Given the description of an element on the screen output the (x, y) to click on. 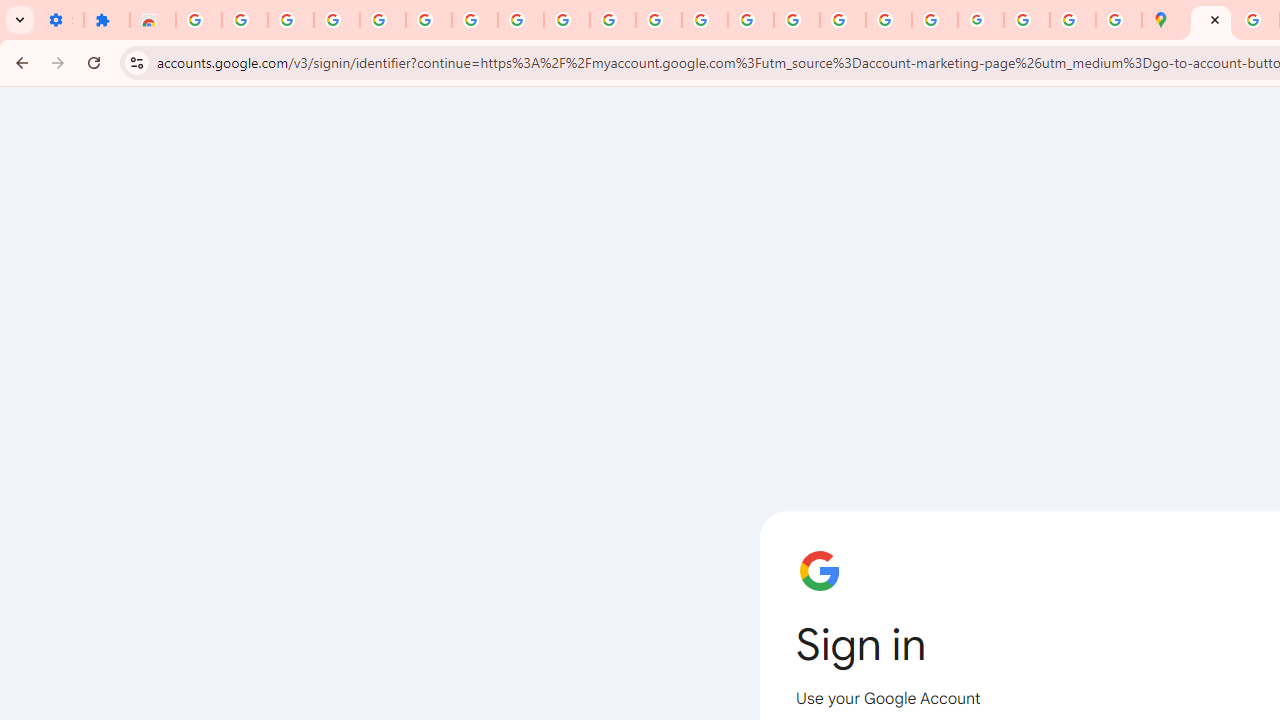
Sign in - Google Accounts (382, 20)
Sign in - Google Accounts (198, 20)
Google Account Help (428, 20)
